Given the description of an element on the screen output the (x, y) to click on. 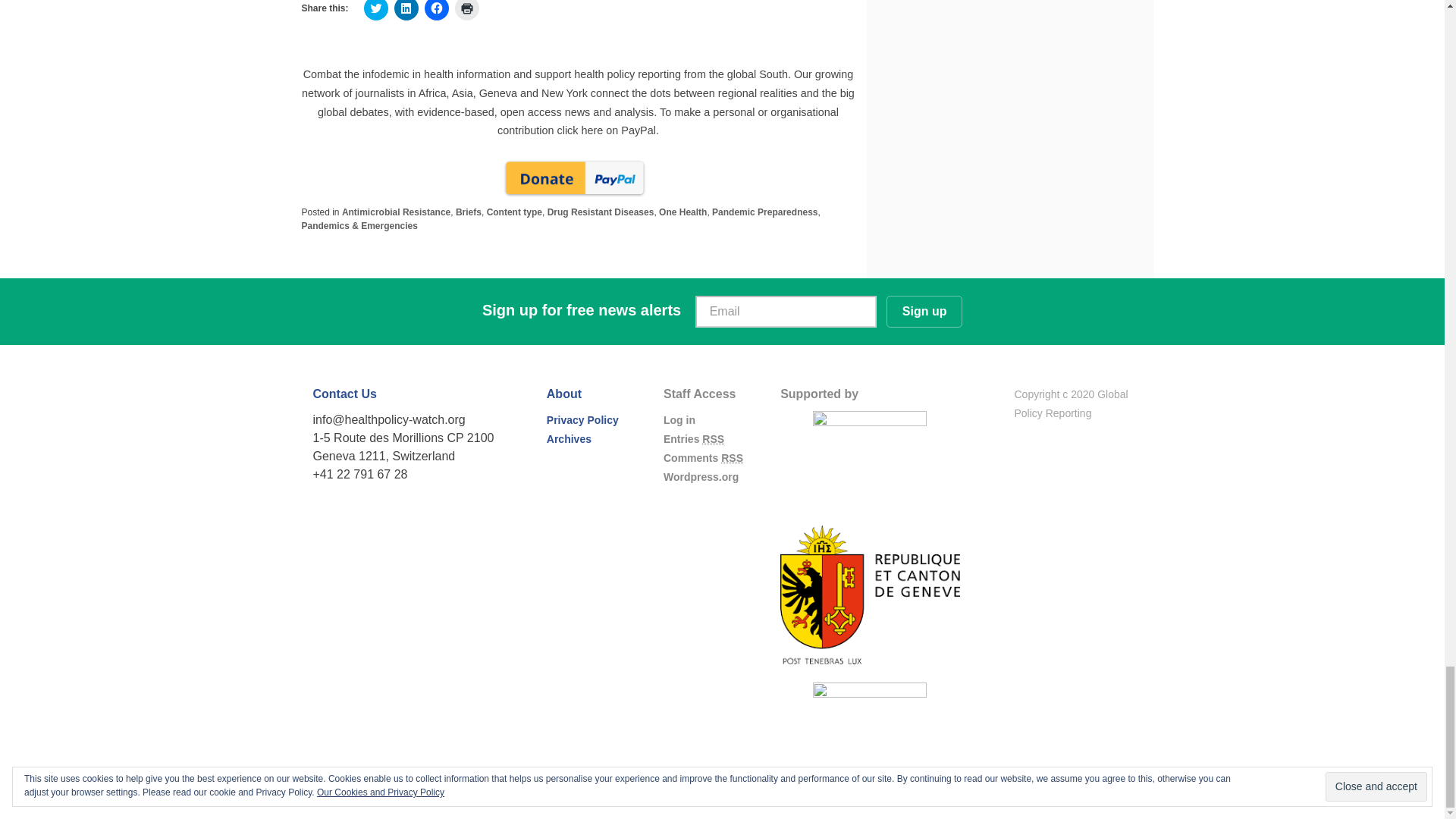
Sign up (924, 311)
Briefs (468, 212)
Antimicrobial Resistance (395, 212)
